Given the description of an element on the screen output the (x, y) to click on. 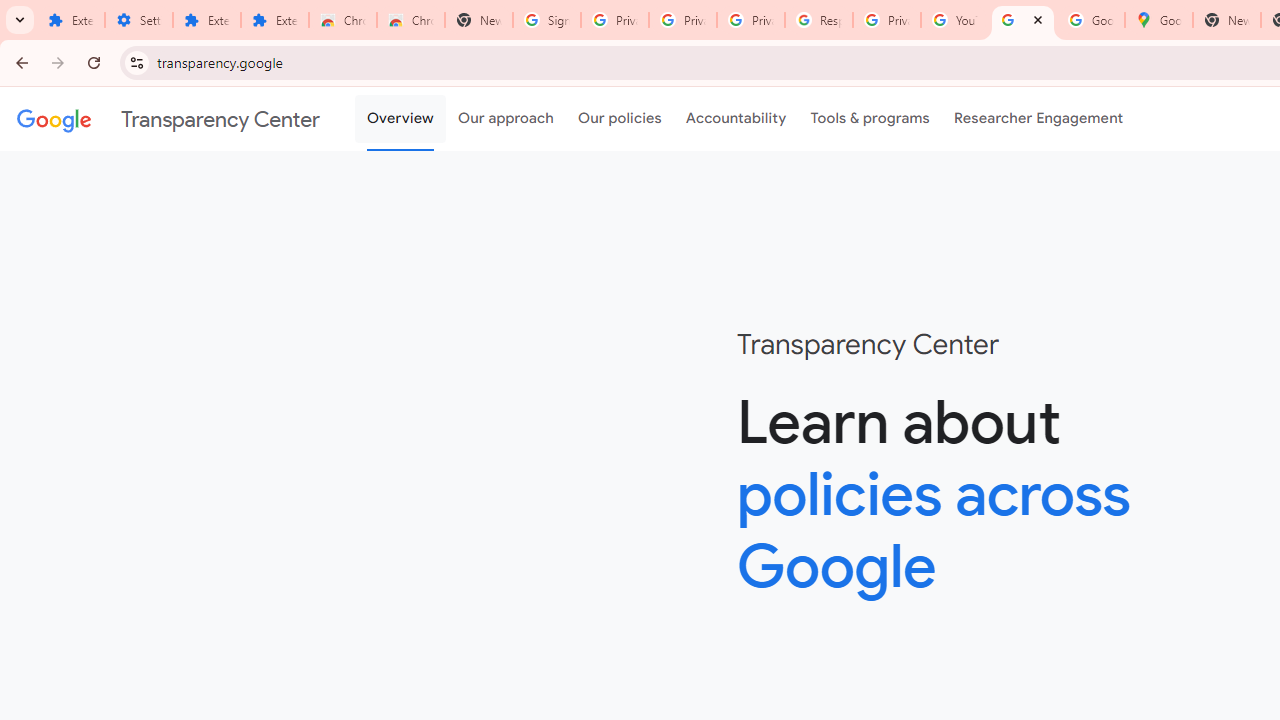
Extensions (206, 20)
Transparency Center (167, 119)
New Tab (1226, 20)
Extensions (274, 20)
